Given the description of an element on the screen output the (x, y) to click on. 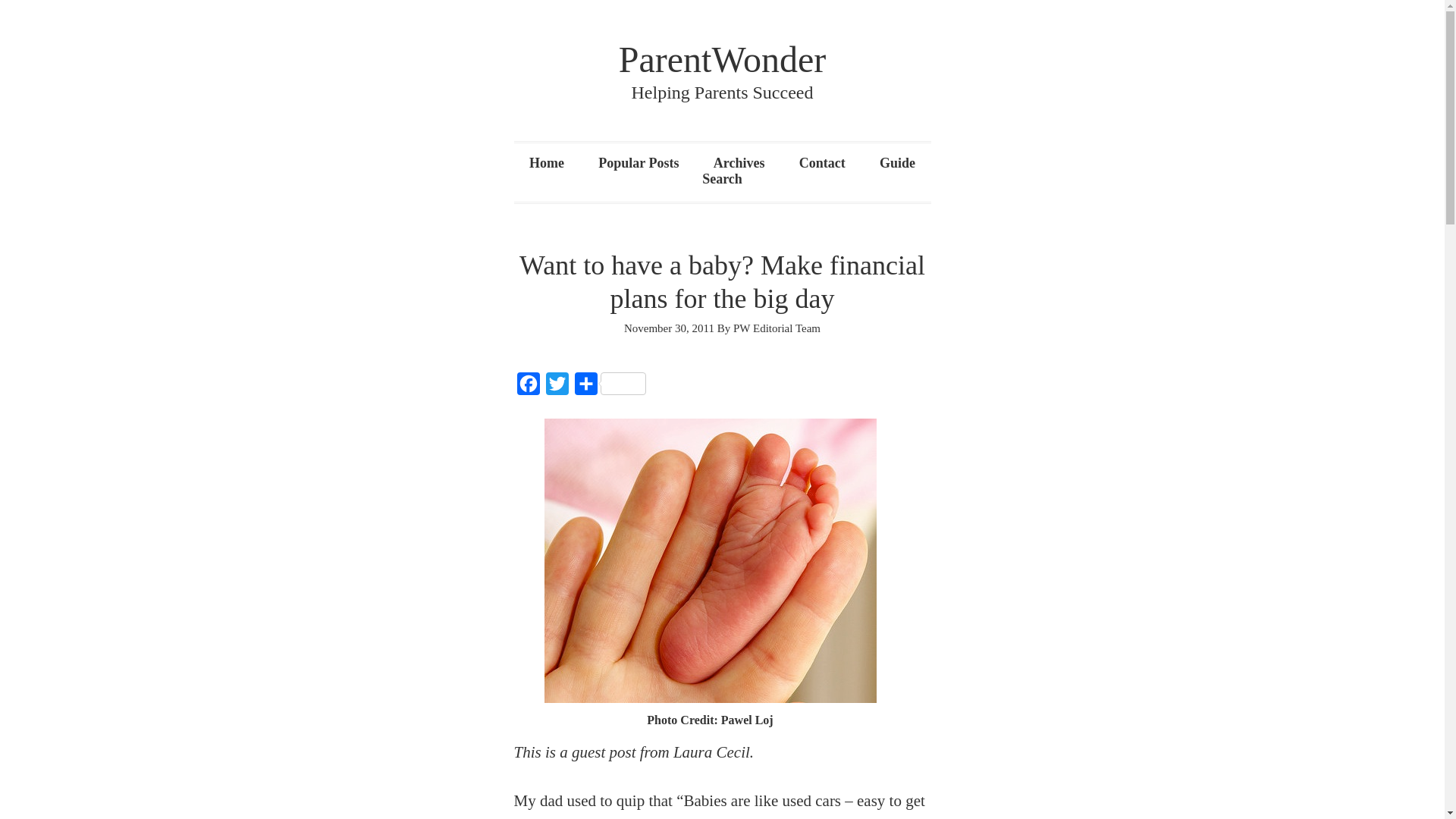
Archives (739, 162)
Twitter (557, 387)
Home (546, 162)
Twitter (557, 387)
Facebook (528, 387)
Guide (897, 162)
PW Editorial Team (777, 328)
Facebook (528, 387)
ParentWonder (721, 59)
Contact (822, 162)
